Given the description of an element on the screen output the (x, y) to click on. 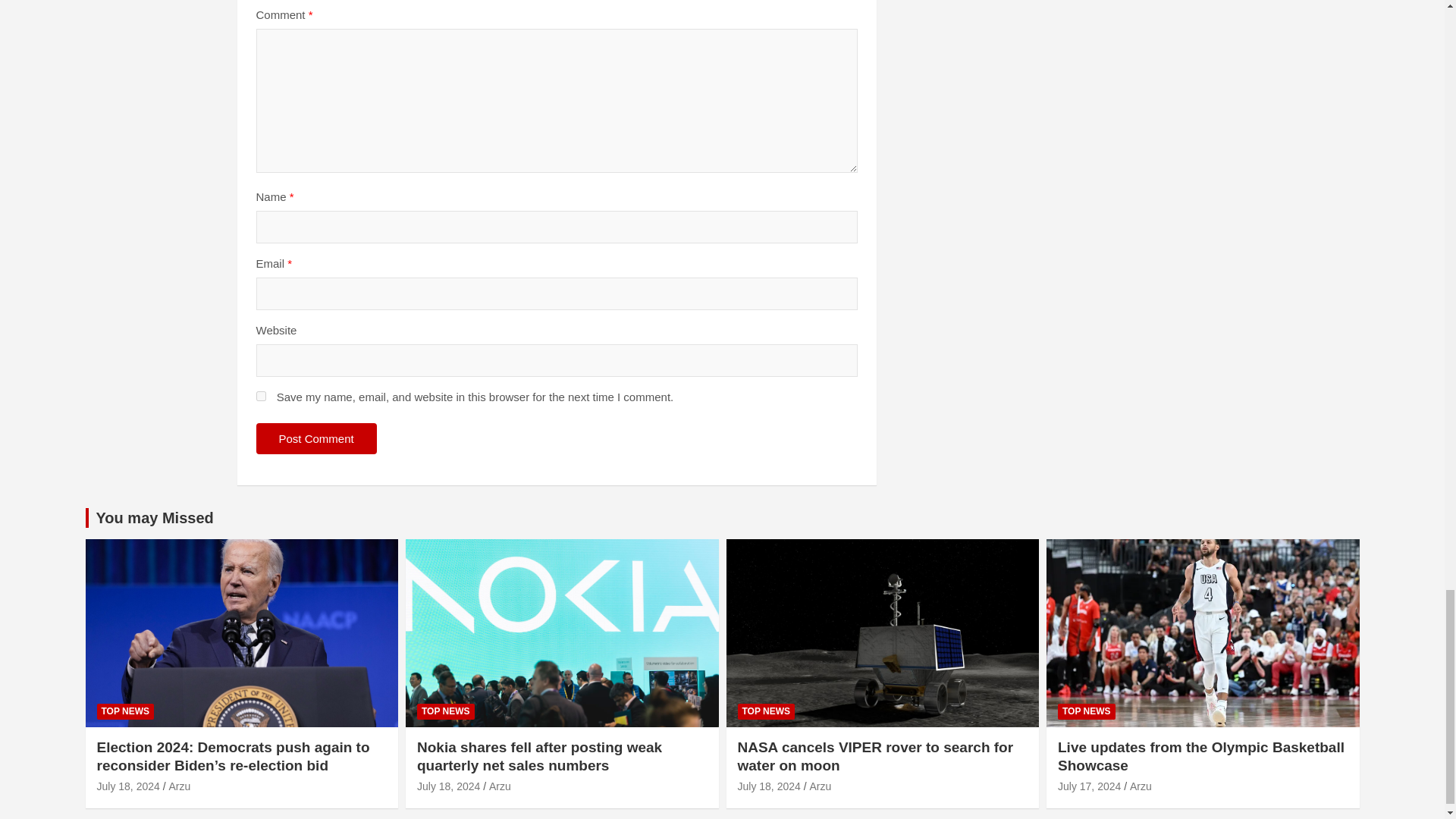
yes (261, 396)
NASA cancels VIPER rover to search for water on moon (767, 786)
TOP NEWS (125, 711)
Live updates from the Olympic Basketball Showcase (1089, 786)
Post Comment (316, 438)
Post Comment (316, 438)
